Given the description of an element on the screen output the (x, y) to click on. 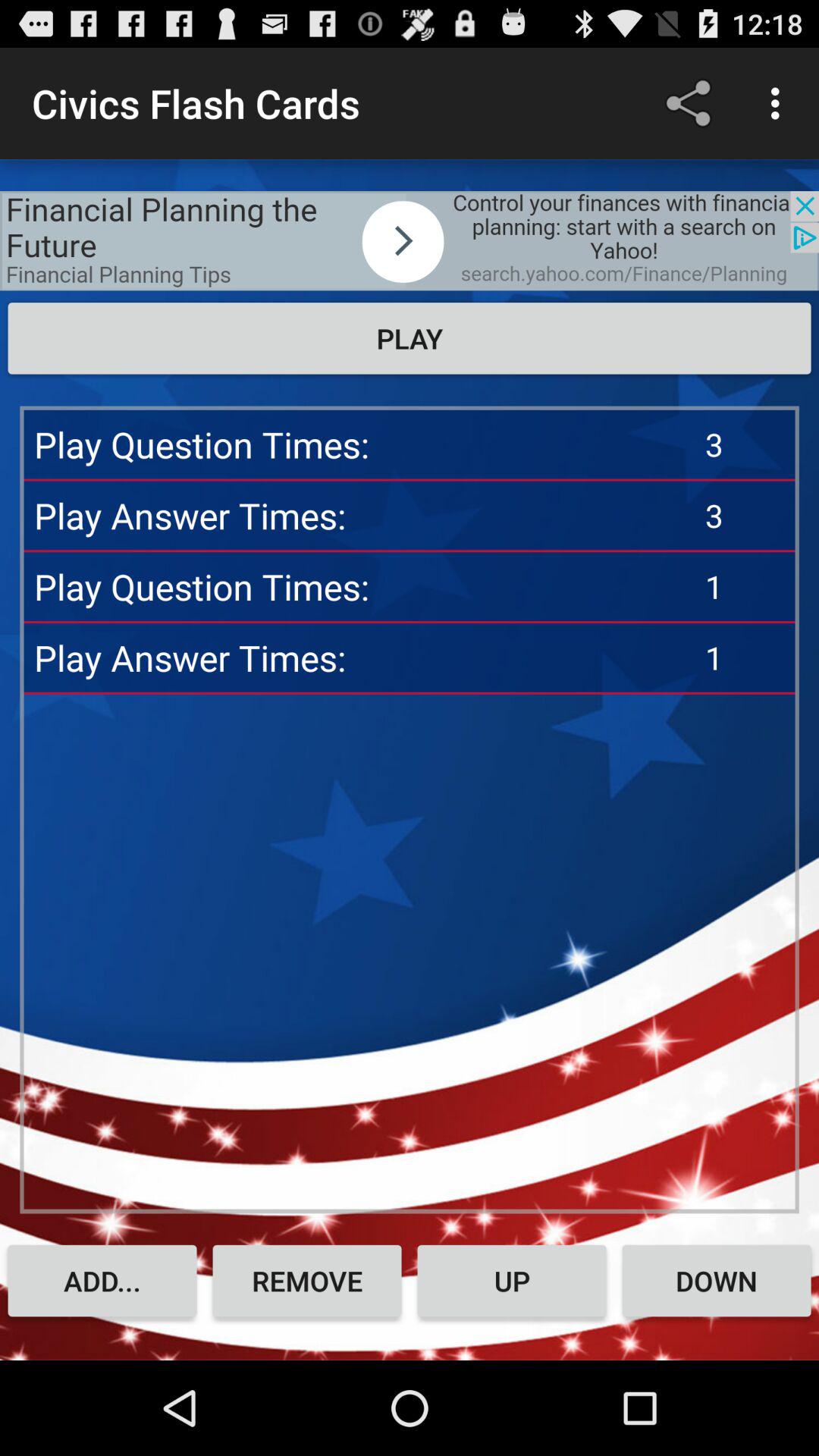
advertisement (409, 240)
